Given the description of an element on the screen output the (x, y) to click on. 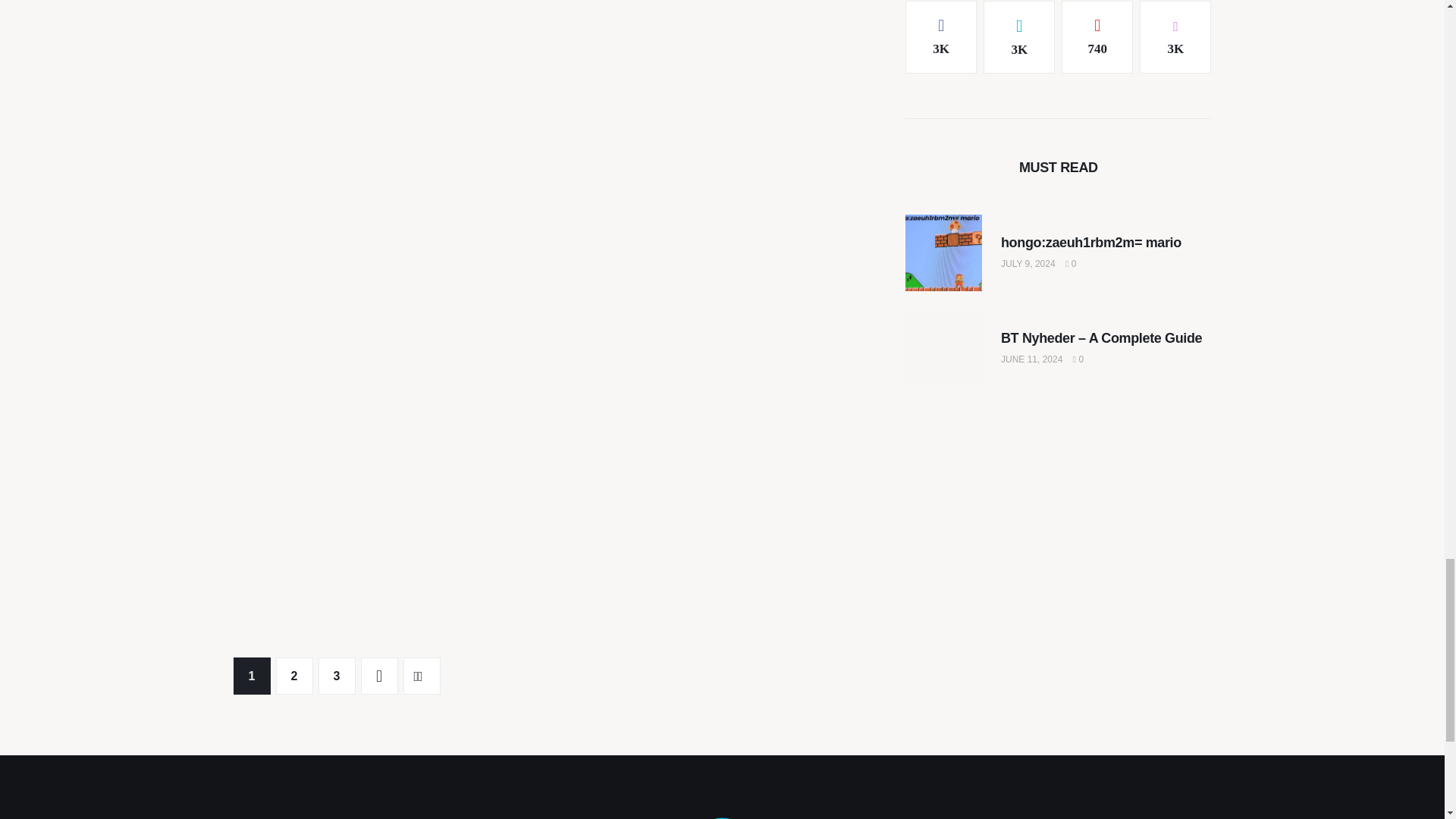
Next page (379, 675)
Last page (422, 675)
